Given the description of an element on the screen output the (x, y) to click on. 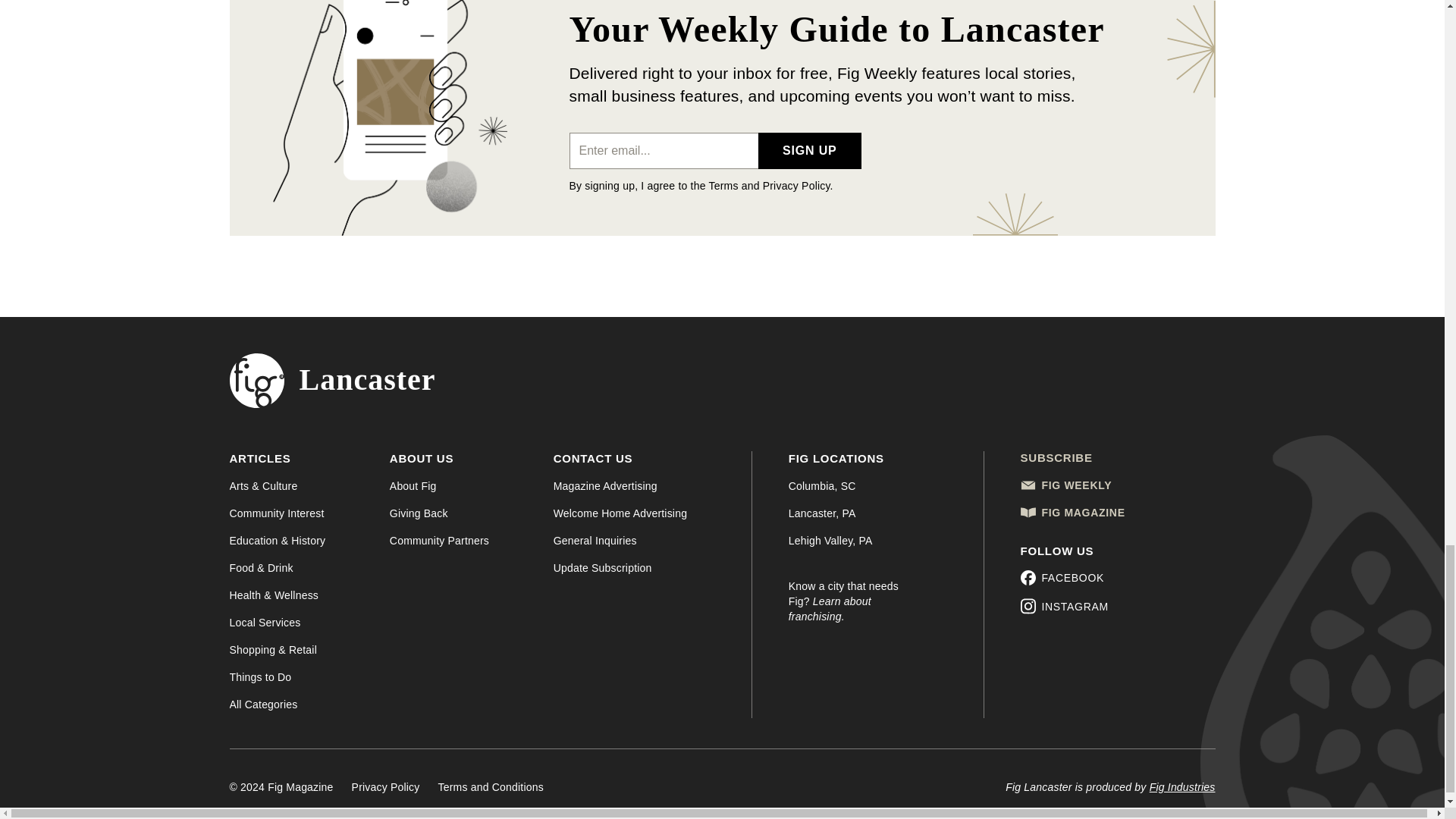
ARTICLES (258, 462)
SIGN UP (809, 150)
Lancaster (331, 379)
